Given the description of an element on the screen output the (x, y) to click on. 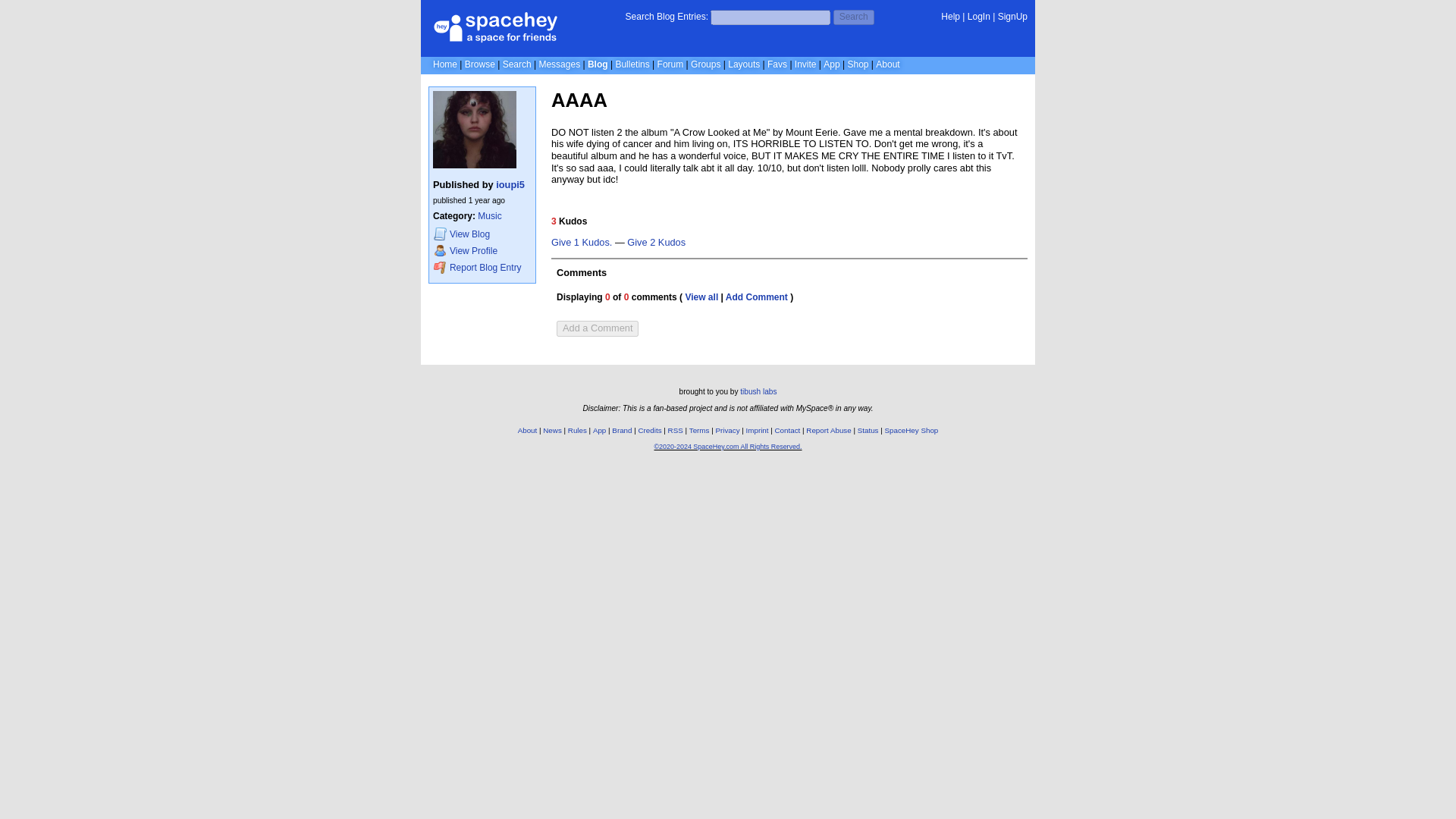
Add a Comment (597, 327)
About (527, 429)
Browse (479, 63)
SignUp (1012, 16)
Brand (621, 429)
View all (700, 296)
News (552, 429)
View Profile (481, 250)
Search (853, 17)
Groups (705, 63)
